Given the description of an element on the screen output the (x, y) to click on. 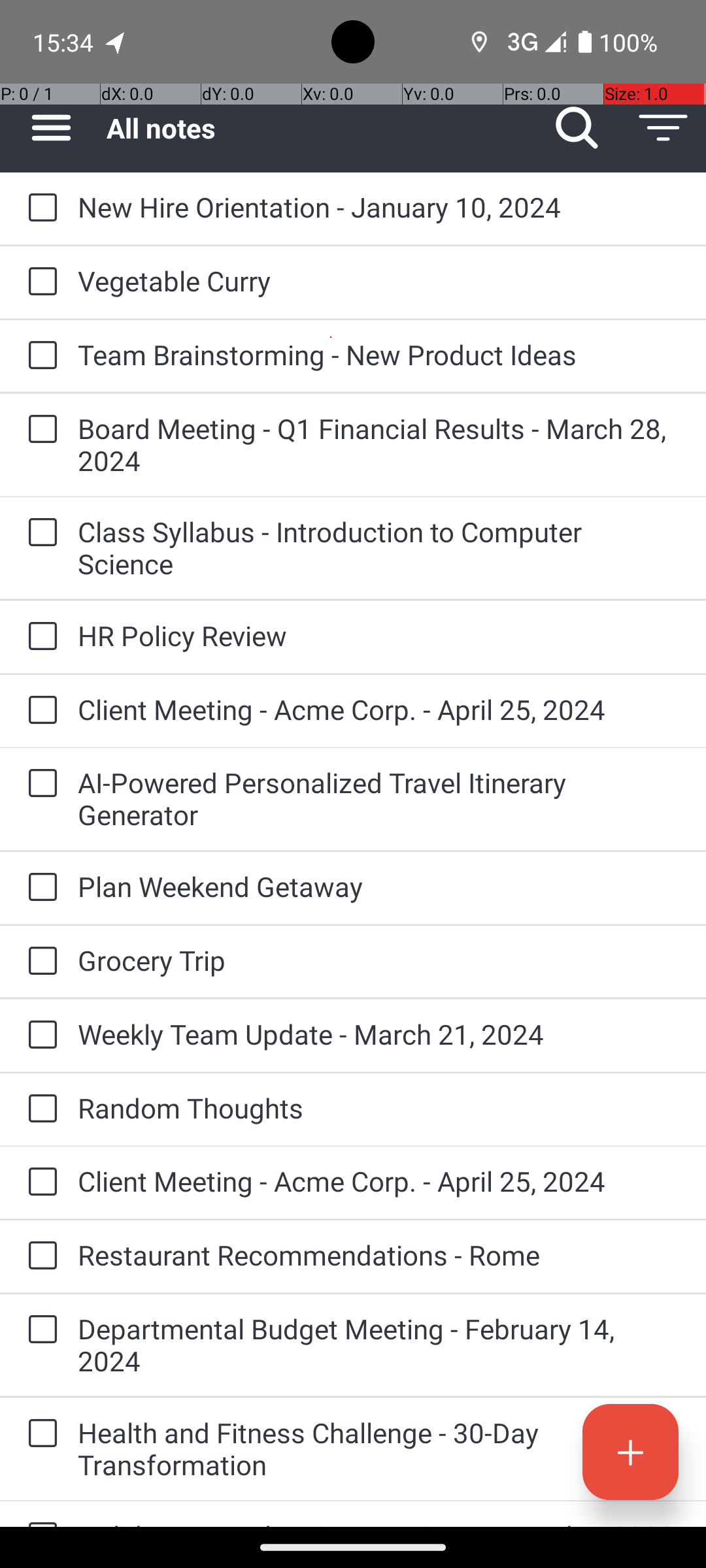
to-do: New Hire Orientation - January 10, 2024 Element type: android.widget.CheckBox (38, 208)
New Hire Orientation - January 10, 2024 Element type: android.widget.TextView (378, 206)
to-do: Vegetable Curry Element type: android.widget.CheckBox (38, 282)
Vegetable Curry Element type: android.widget.TextView (378, 280)
to-do: Team Brainstorming - New Product Ideas Element type: android.widget.CheckBox (38, 356)
Team Brainstorming - New Product Ideas Element type: android.widget.TextView (378, 354)
to-do: Board Meeting - Q1 Financial Results - March 28, 2024 Element type: android.widget.CheckBox (38, 429)
Board Meeting - Q1 Financial Results - March 28, 2024 Element type: android.widget.TextView (378, 443)
to-do: Class Syllabus - Introduction to Computer Science Element type: android.widget.CheckBox (38, 533)
Class Syllabus - Introduction to Computer Science Element type: android.widget.TextView (378, 547)
to-do: HR Policy Review Element type: android.widget.CheckBox (38, 637)
HR Policy Review Element type: android.widget.TextView (378, 634)
to-do: Client Meeting - Acme Corp. - April 25, 2024 Element type: android.widget.CheckBox (38, 710)
Client Meeting - Acme Corp. - April 25, 2024 Element type: android.widget.TextView (378, 708)
to-do: AI-Powered Personalized Travel Itinerary Generator Element type: android.widget.CheckBox (38, 783)
AI-Powered Personalized Travel Itinerary Generator Element type: android.widget.TextView (378, 798)
to-do: Plan Weekend Getaway Element type: android.widget.CheckBox (38, 887)
Plan Weekend Getaway Element type: android.widget.TextView (378, 885)
to-do: Grocery Trip Element type: android.widget.CheckBox (38, 961)
Grocery Trip Element type: android.widget.TextView (378, 959)
to-do: Weekly Team Update - March 21, 2024 Element type: android.widget.CheckBox (38, 1035)
Weekly Team Update - March 21, 2024 Element type: android.widget.TextView (378, 1033)
to-do: Random Thoughts Element type: android.widget.CheckBox (38, 1109)
Random Thoughts Element type: android.widget.TextView (378, 1107)
to-do: Restaurant Recommendations - Rome Element type: android.widget.CheckBox (38, 1256)
Restaurant Recommendations - Rome Element type: android.widget.TextView (378, 1254)
to-do: Departmental Budget Meeting - February 14, 2024 Element type: android.widget.CheckBox (38, 1330)
Departmental Budget Meeting - February 14, 2024 Element type: android.widget.TextView (378, 1344)
to-do: Health and Fitness Challenge - 30-Day Transformation Element type: android.widget.CheckBox (38, 1434)
Health and Fitness Challenge - 30-Day Transformation Element type: android.widget.TextView (378, 1448)
to-do: Holiday Party Planning Meeting - December 2023 Element type: android.widget.CheckBox (38, 1513)
Holiday Party Planning Meeting - December 2023 Element type: android.widget.TextView (378, 1521)
